Given the description of an element on the screen output the (x, y) to click on. 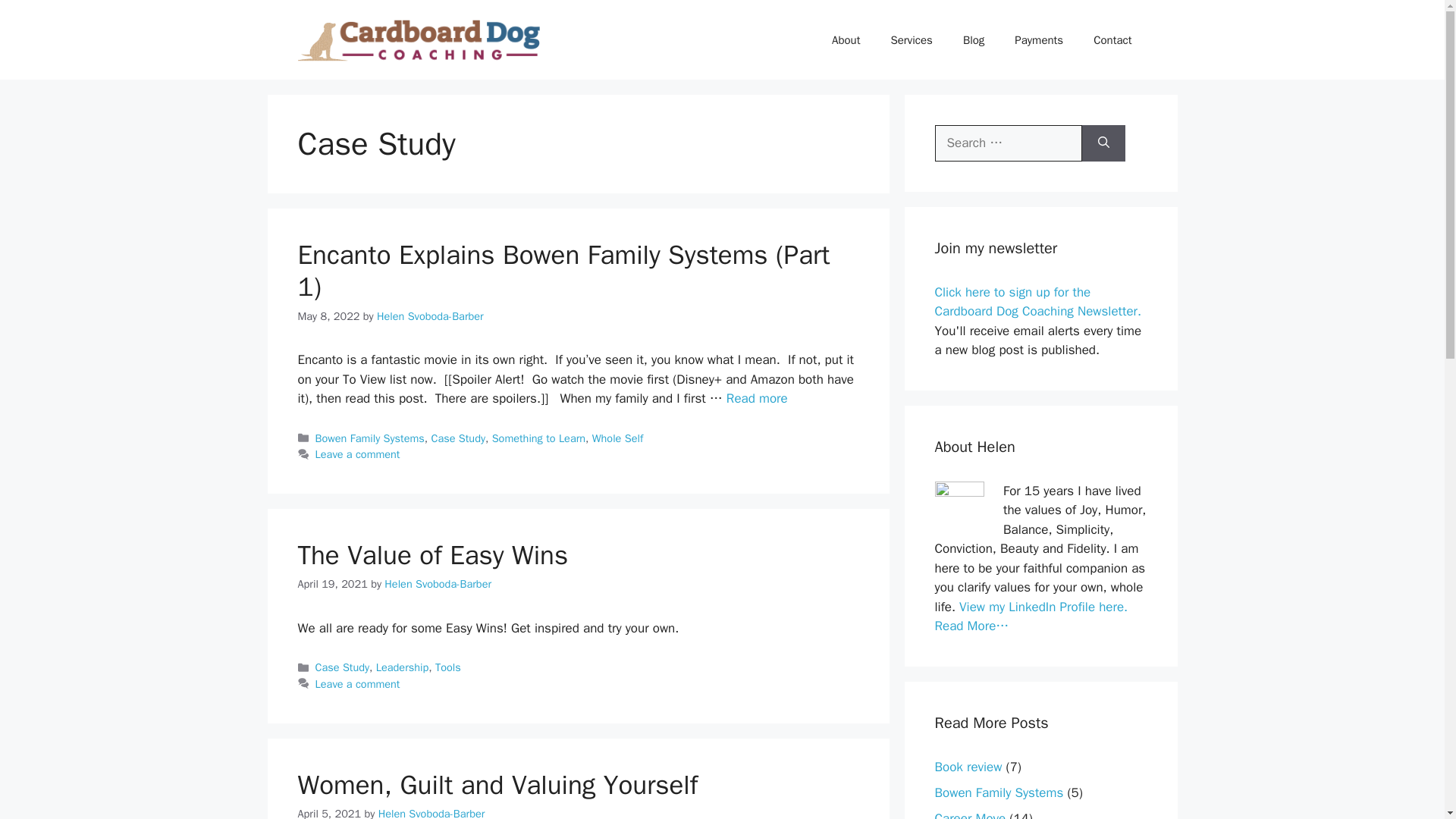
View all posts by Helen Svoboda-Barber (430, 315)
View all posts by Helen Svoboda-Barber (438, 583)
Helen Svoboda-Barber (431, 812)
Helen Svoboda-Barber (430, 315)
The Value of Easy Wins (432, 554)
Case Study (342, 667)
Search for: (1007, 143)
About (845, 39)
Leave a comment (357, 684)
View all posts by Helen Svoboda-Barber (431, 812)
